Given the description of an element on the screen output the (x, y) to click on. 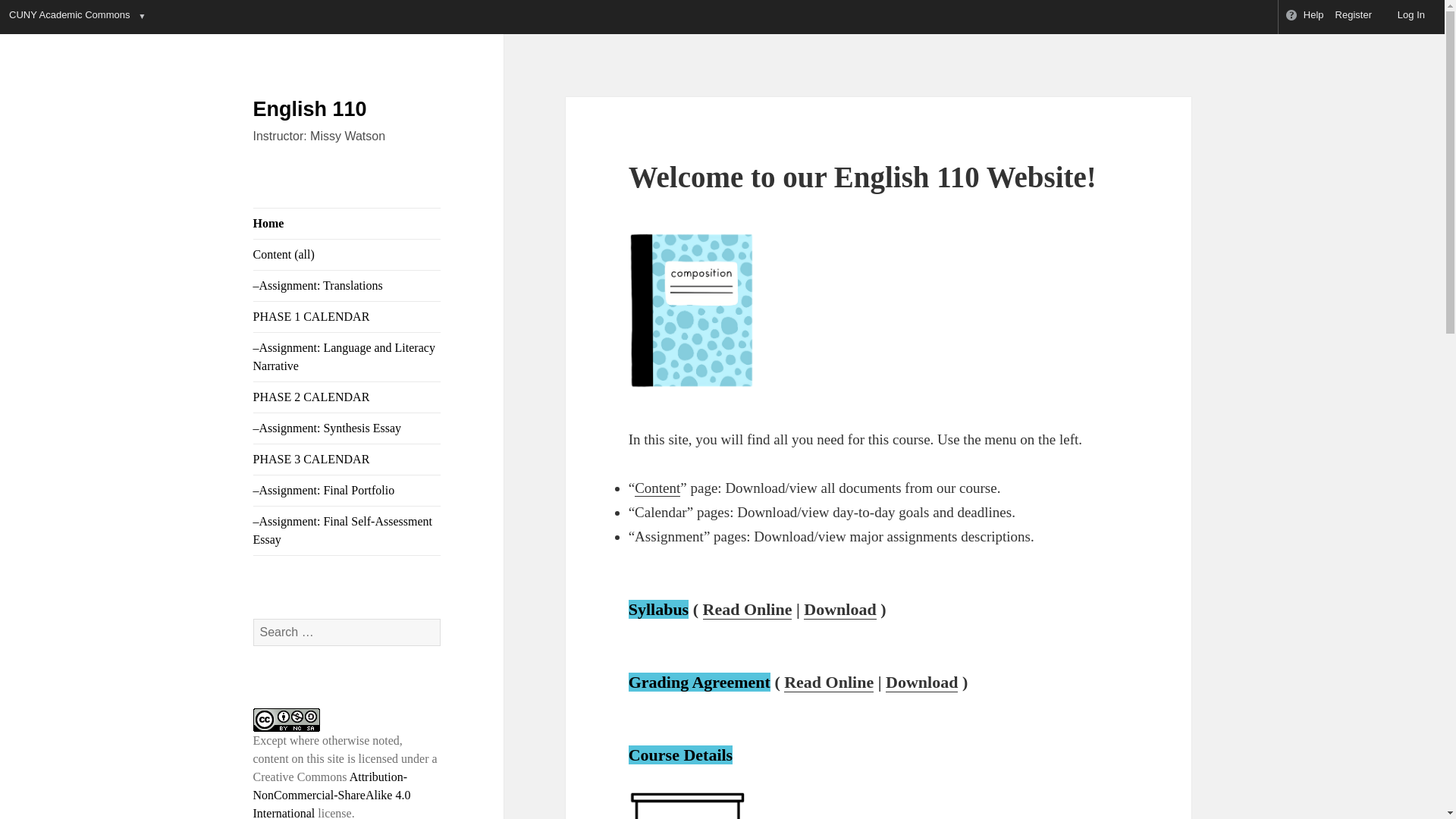
Attribution-NonCommercial-ShareAlike 4.0 International (331, 794)
Read Online (747, 609)
Read Online (828, 682)
Home (347, 223)
Download (921, 682)
Register (1353, 17)
PHASE 3 CALENDAR (347, 459)
Log In (1404, 17)
English 110 (309, 108)
